Given the description of an element on the screen output the (x, y) to click on. 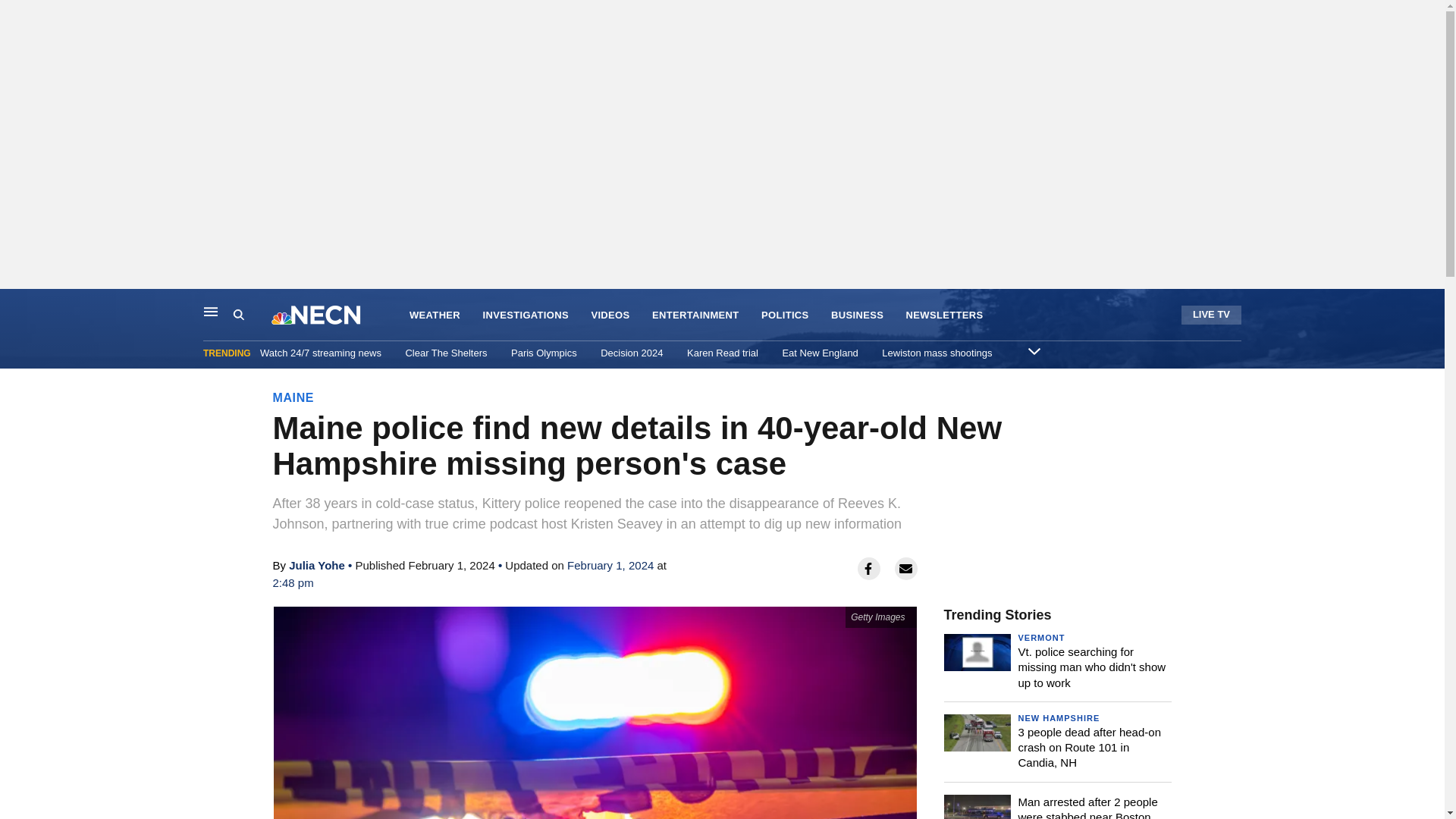
MAINE (293, 397)
Search (238, 314)
Lewiston mass shootings (936, 352)
LIVE TV (1210, 313)
Search (252, 314)
Skip to content (16, 304)
WEATHER (434, 315)
POLITICS (785, 315)
VERMONT (1040, 637)
